Given the description of an element on the screen output the (x, y) to click on. 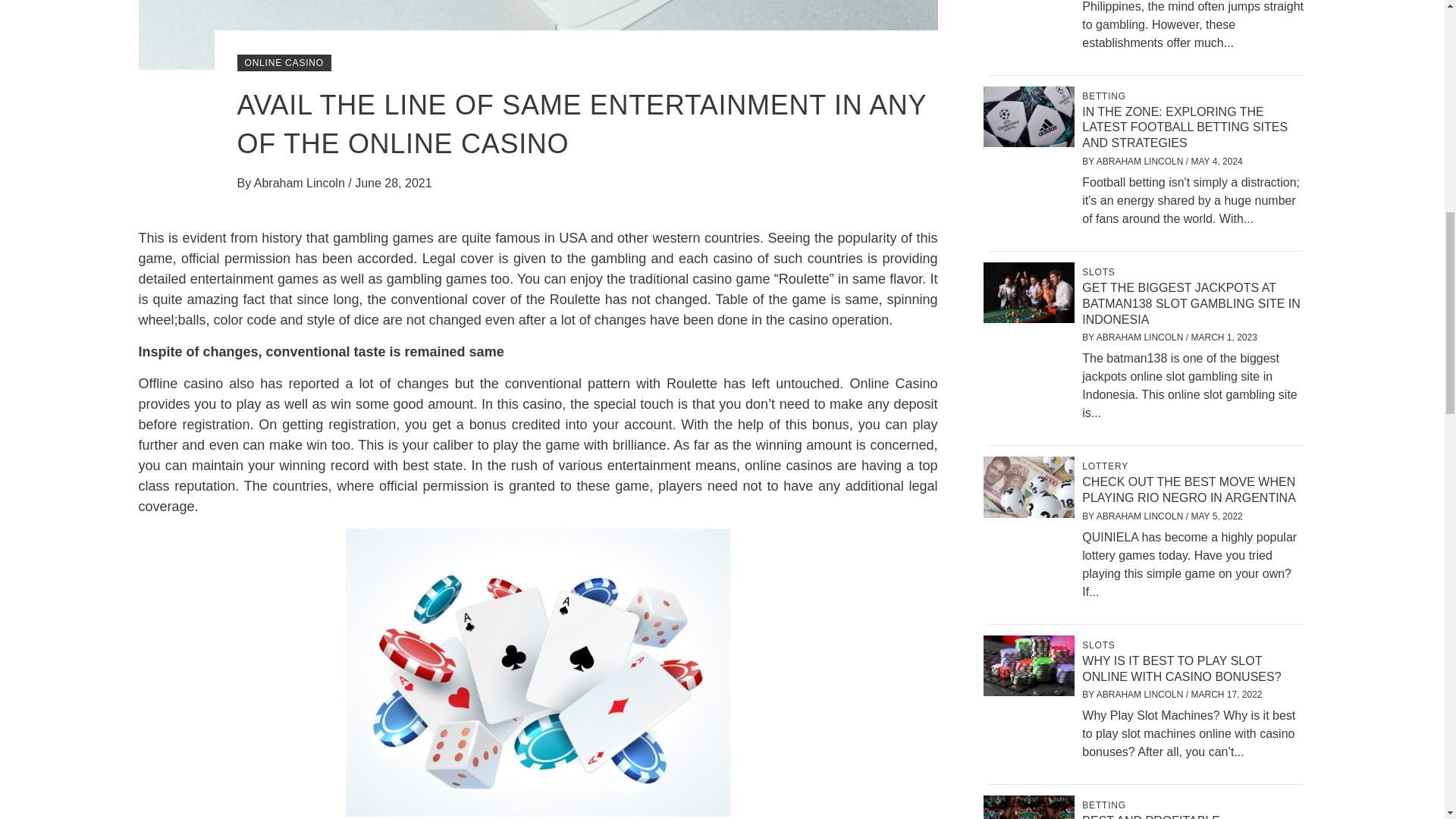
Abraham Lincoln (301, 182)
LOTTERY (1106, 465)
ONLINE CASINO (282, 62)
SLOTS (1099, 271)
ABRAHAM LINCOLN (1141, 337)
ABRAHAM LINCOLN (1141, 161)
BETTING (1105, 95)
